Given the description of an element on the screen output the (x, y) to click on. 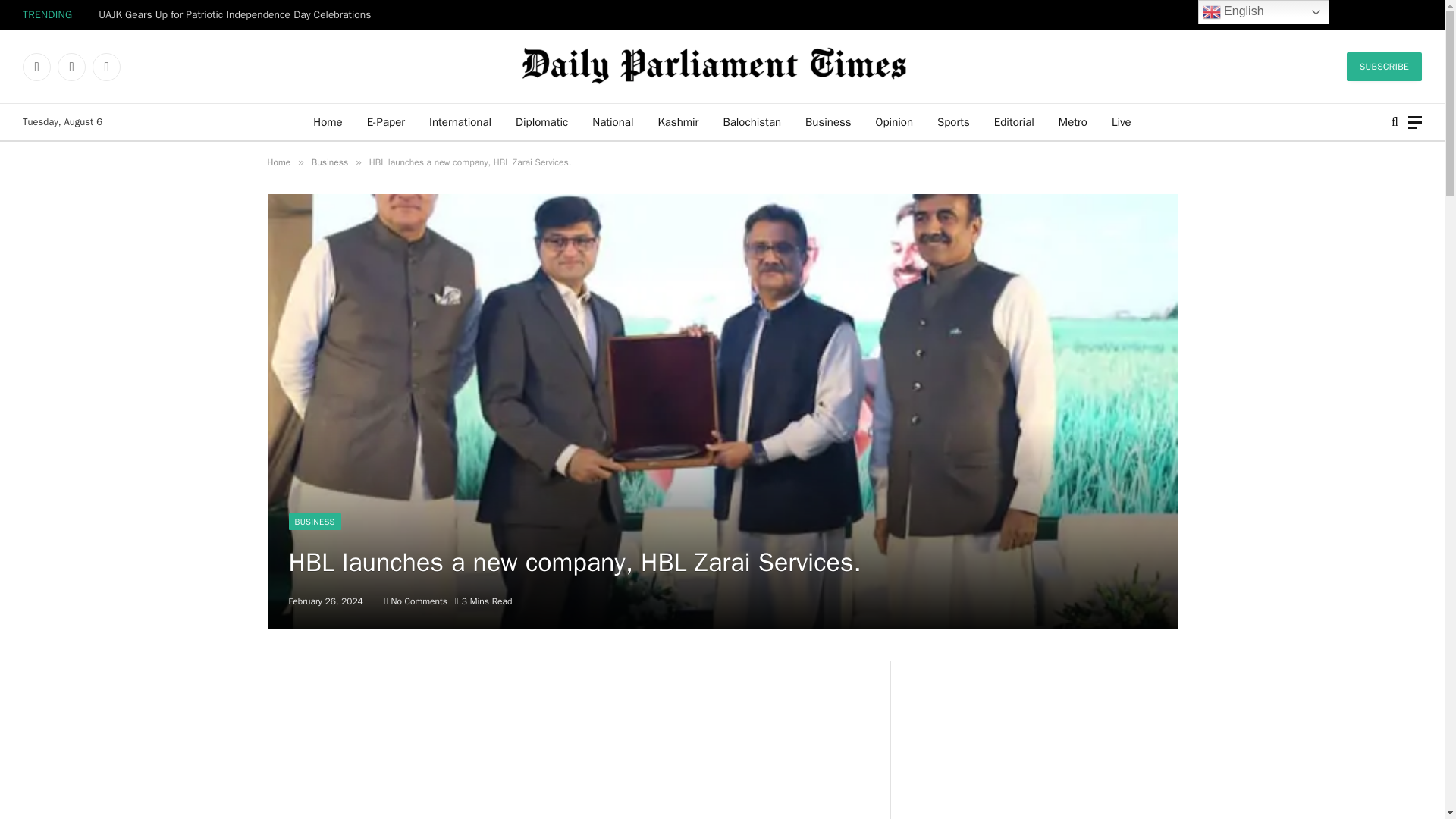
Diplomatic (541, 122)
International (459, 122)
Advertisement (566, 739)
Facebook (36, 67)
Home (327, 122)
UAJK Gears Up for Patriotic Independence Day Celebrations (238, 15)
Instagram (106, 67)
Metro (1072, 122)
Editorial (1013, 122)
Opinion (893, 122)
Kashmir (677, 122)
E-Paper (385, 122)
Live (1120, 122)
Daily Parliament Times (721, 66)
